Given the description of an element on the screen output the (x, y) to click on. 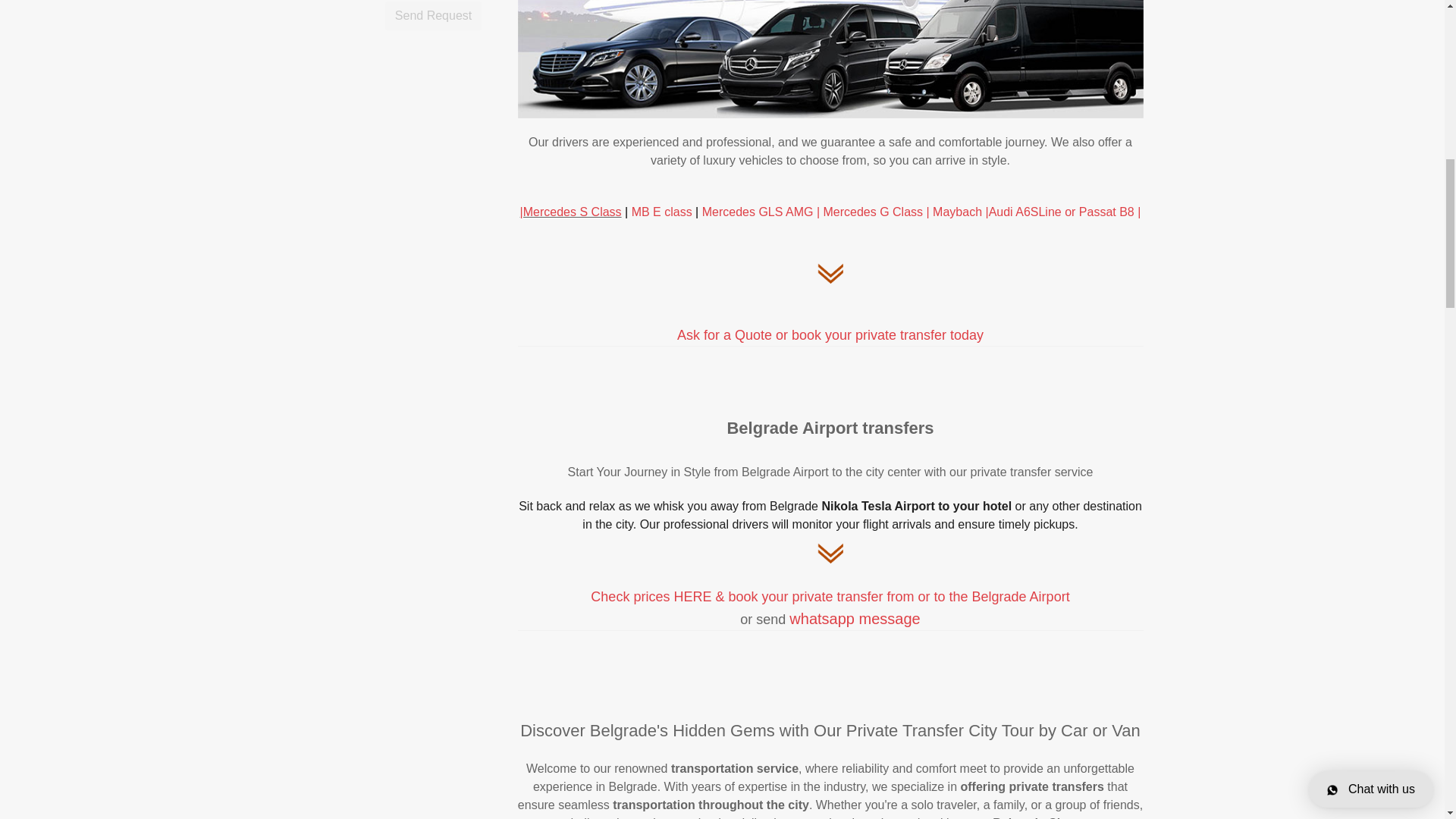
Lux Vehicle Rent with Driver in Belgrade (570, 212)
Lux Vehicle Rent with Driver in Belgrade (874, 212)
Lux Vehicle Rent with Driver in Belgrade (959, 212)
Lux Vehicle Rent with Driver in Belgrade (720, 212)
Ask for a quote or book your private transfer (830, 335)
Lux Vehicle Rent with Driver in Belgrade (1063, 212)
